Given the description of an element on the screen output the (x, y) to click on. 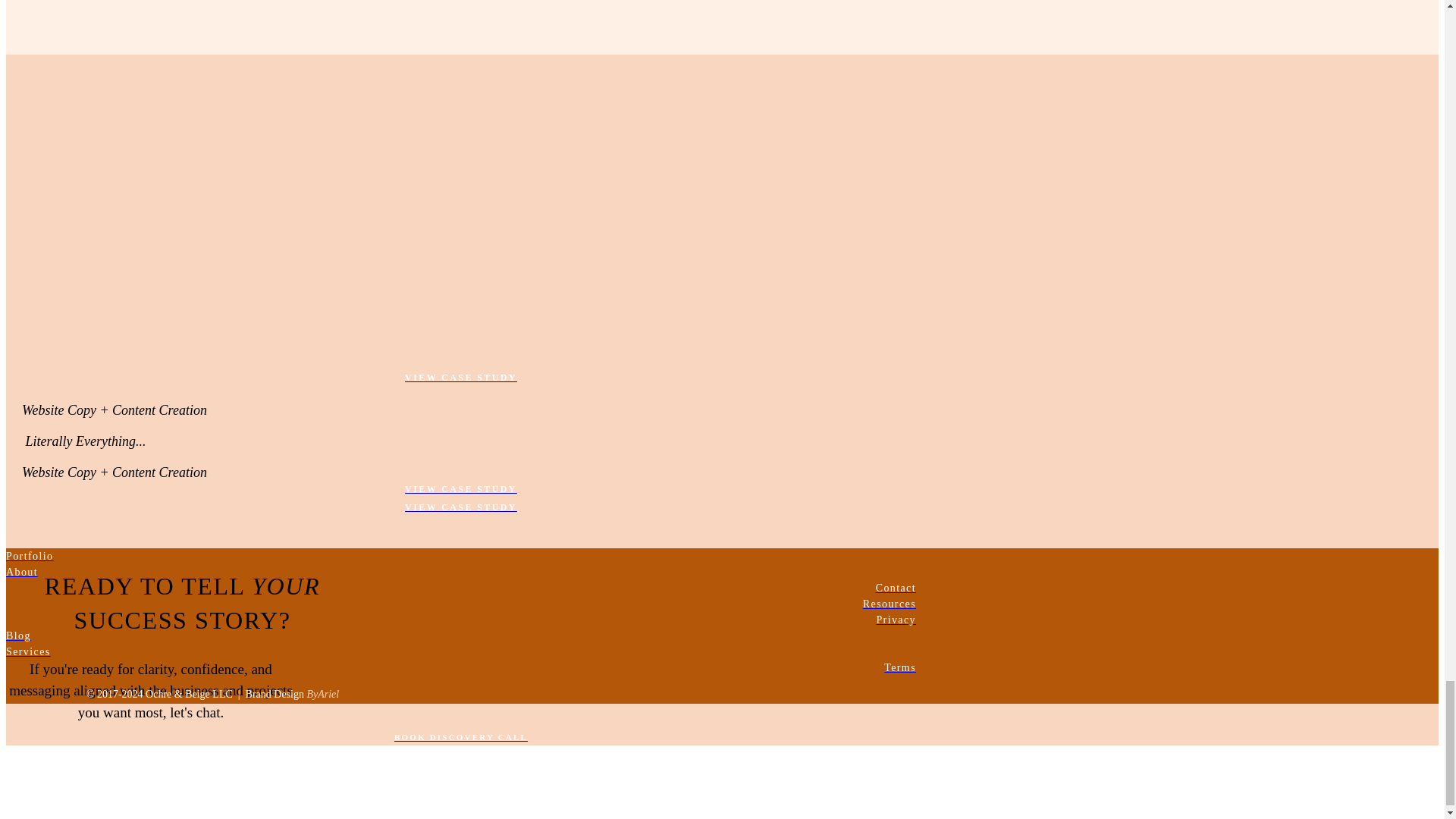
Portfolio (460, 555)
VIEW CASE STUDY (460, 377)
Contact (460, 587)
Resources (460, 603)
VIEW CASE STUDY (460, 506)
BOOK DISCOVERY CALL (460, 736)
Privacy (460, 619)
About (460, 571)
Blog (460, 635)
VIEW CASE STUDY (460, 488)
Services (460, 651)
